Given the description of an element on the screen output the (x, y) to click on. 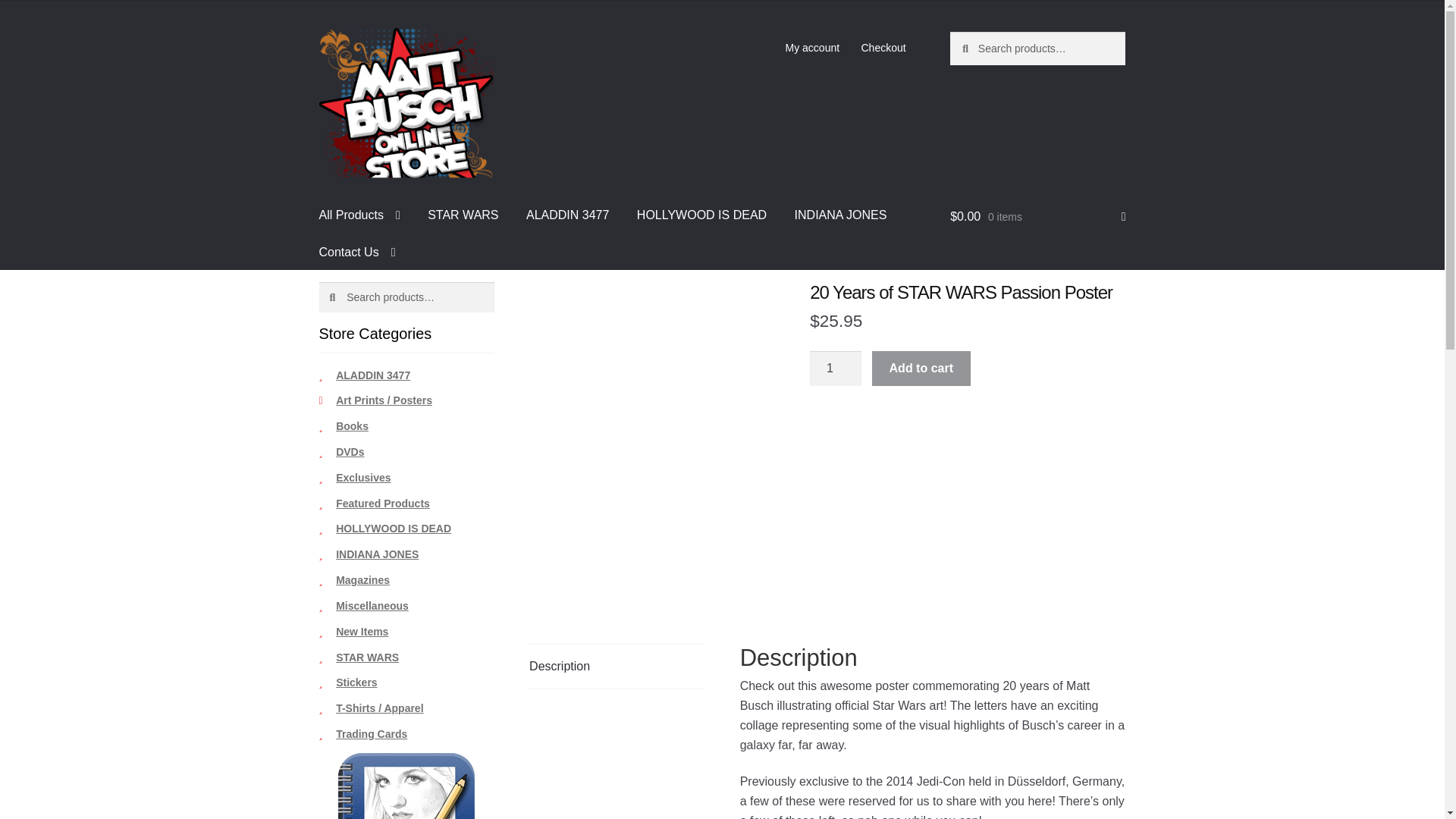
View your shopping cart (1037, 216)
1 (835, 368)
INDIANA JONES (841, 212)
All Products (359, 212)
STAR WARS (462, 212)
My account (812, 47)
Qty (835, 368)
ALADDIN 3477 (567, 212)
Checkout (883, 47)
HOLLYWOOD IS DEAD (701, 212)
Contact Us (357, 250)
